Given the description of an element on the screen output the (x, y) to click on. 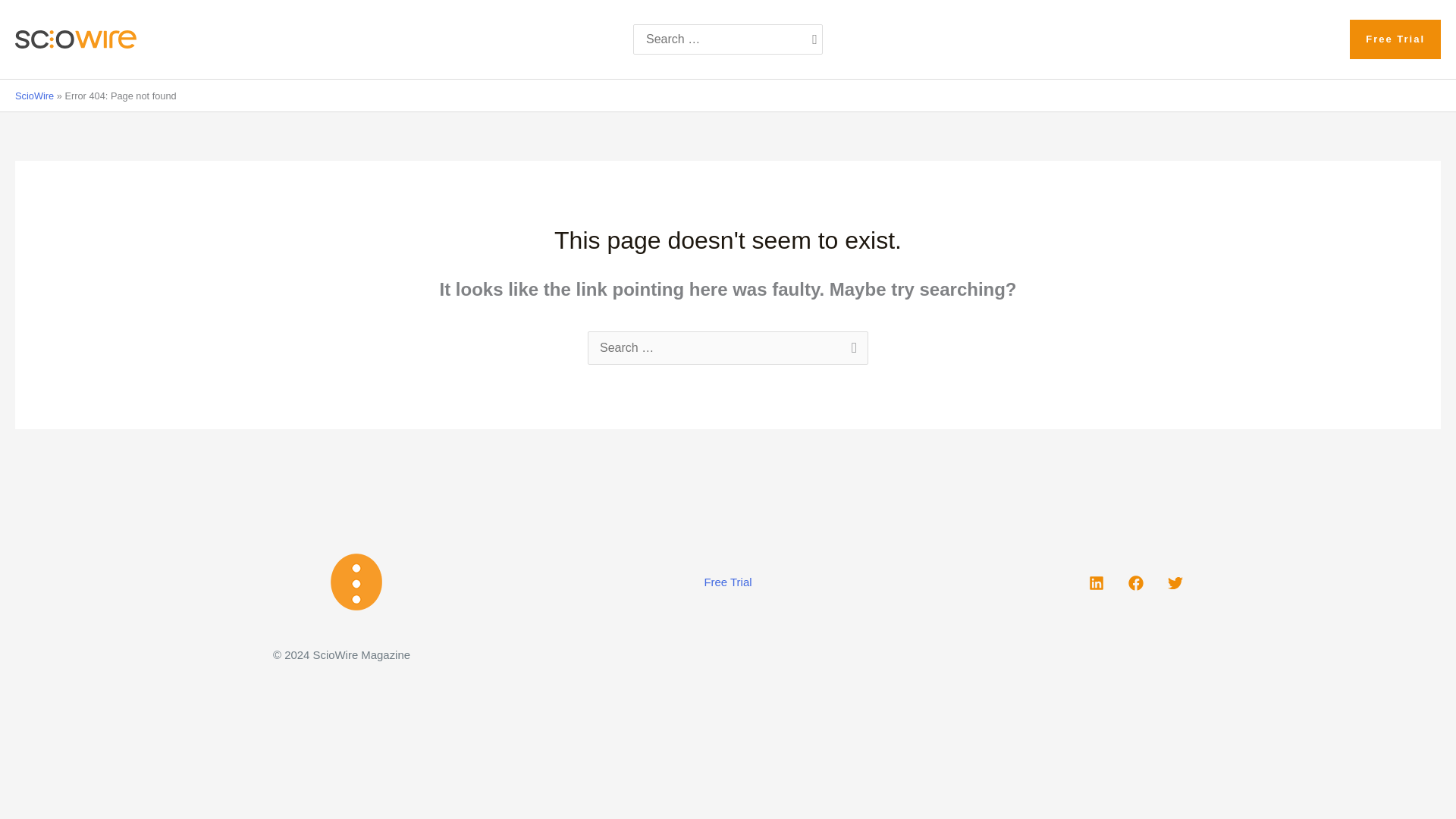
ScioWire (33, 95)
Free Trial (1395, 38)
Free Trial (727, 581)
Search (850, 349)
Search (850, 349)
Search (850, 349)
